Given the description of an element on the screen output the (x, y) to click on. 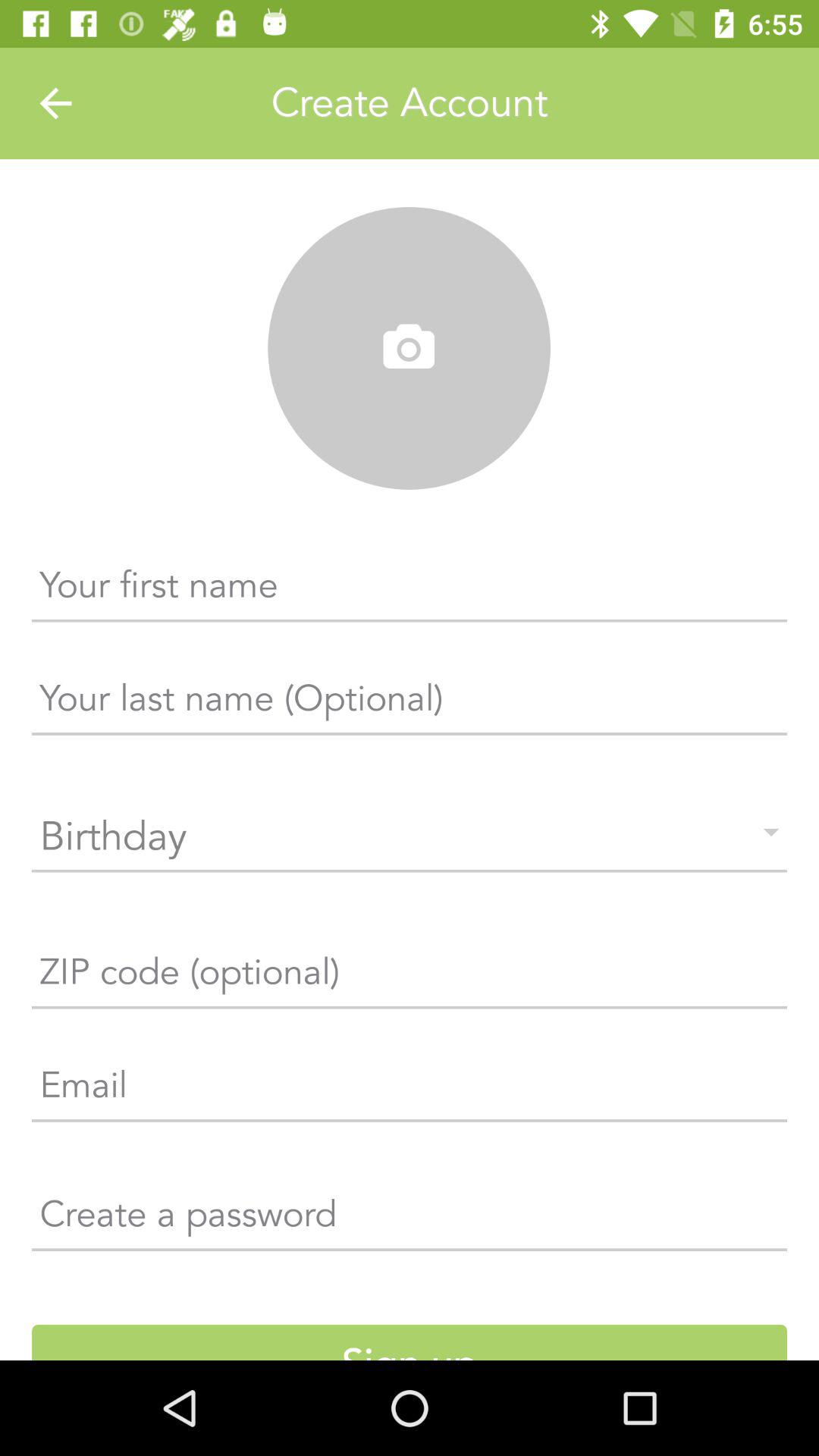
select the text which is just below the birthday (409, 978)
select the text which is just below the first name (409, 704)
click create account (409, 103)
go to create a password (409, 1219)
click on the profile photo (408, 348)
select the field below the your last name (409, 836)
select the text which is above the last name (409, 591)
